Given the description of an element on the screen output the (x, y) to click on. 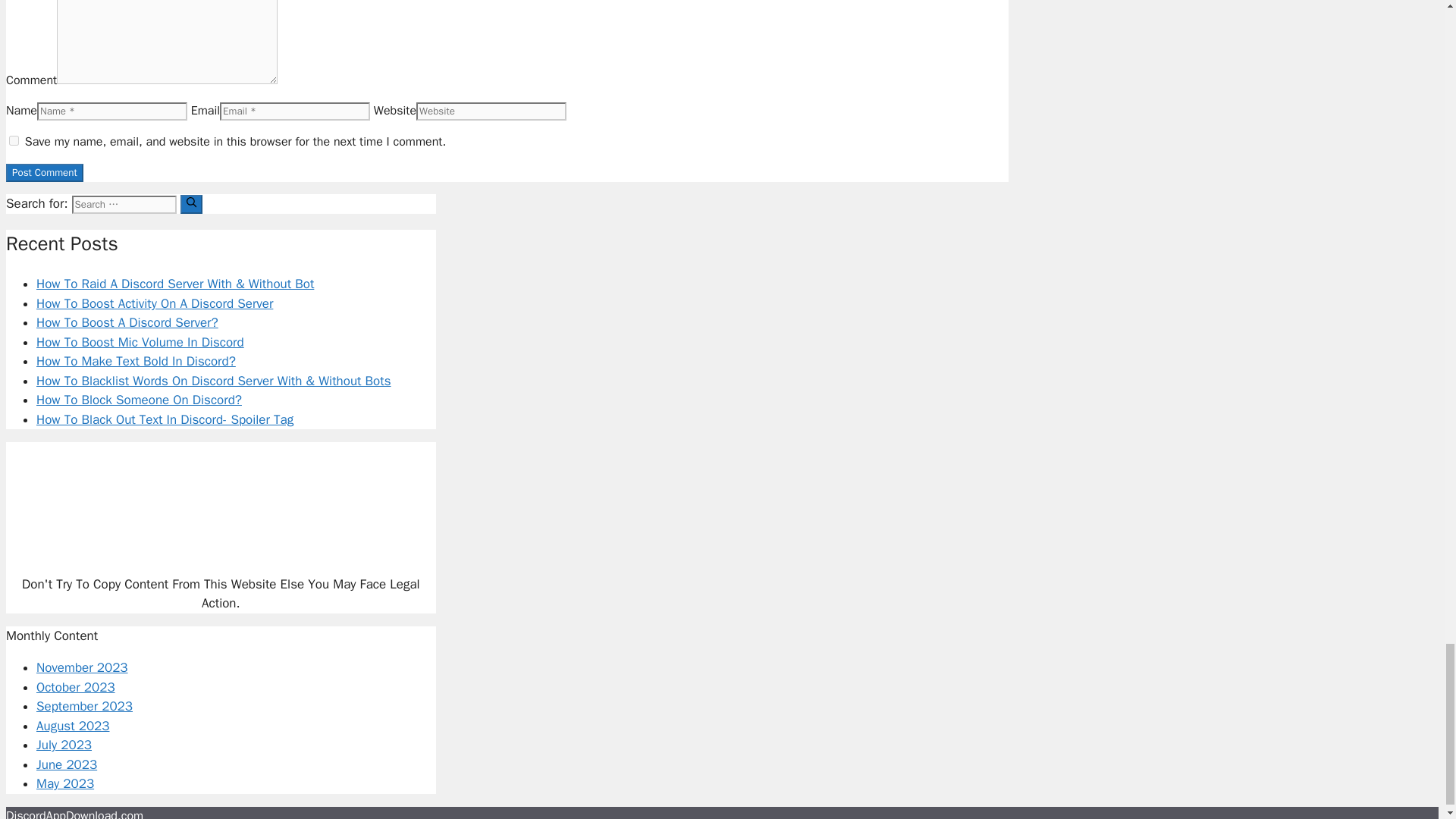
How To Block Someone On Discord? (138, 399)
How To Boost A Discord Server? (127, 322)
DMCA.com Protection Status (220, 551)
June 2023 (66, 764)
Search for: (123, 204)
Post Comment (43, 172)
How To Make Text Bold In Discord? (135, 360)
August 2023 (72, 725)
yes (13, 140)
How To Boost Activity On A Discord Server (154, 303)
November 2023 (82, 667)
How To Black Out Text In Discord- Spoiler Tag (165, 419)
July 2023 (63, 744)
Post Comment (43, 172)
How To Boost Mic Volume In Discord (140, 342)
